Given the description of an element on the screen output the (x, y) to click on. 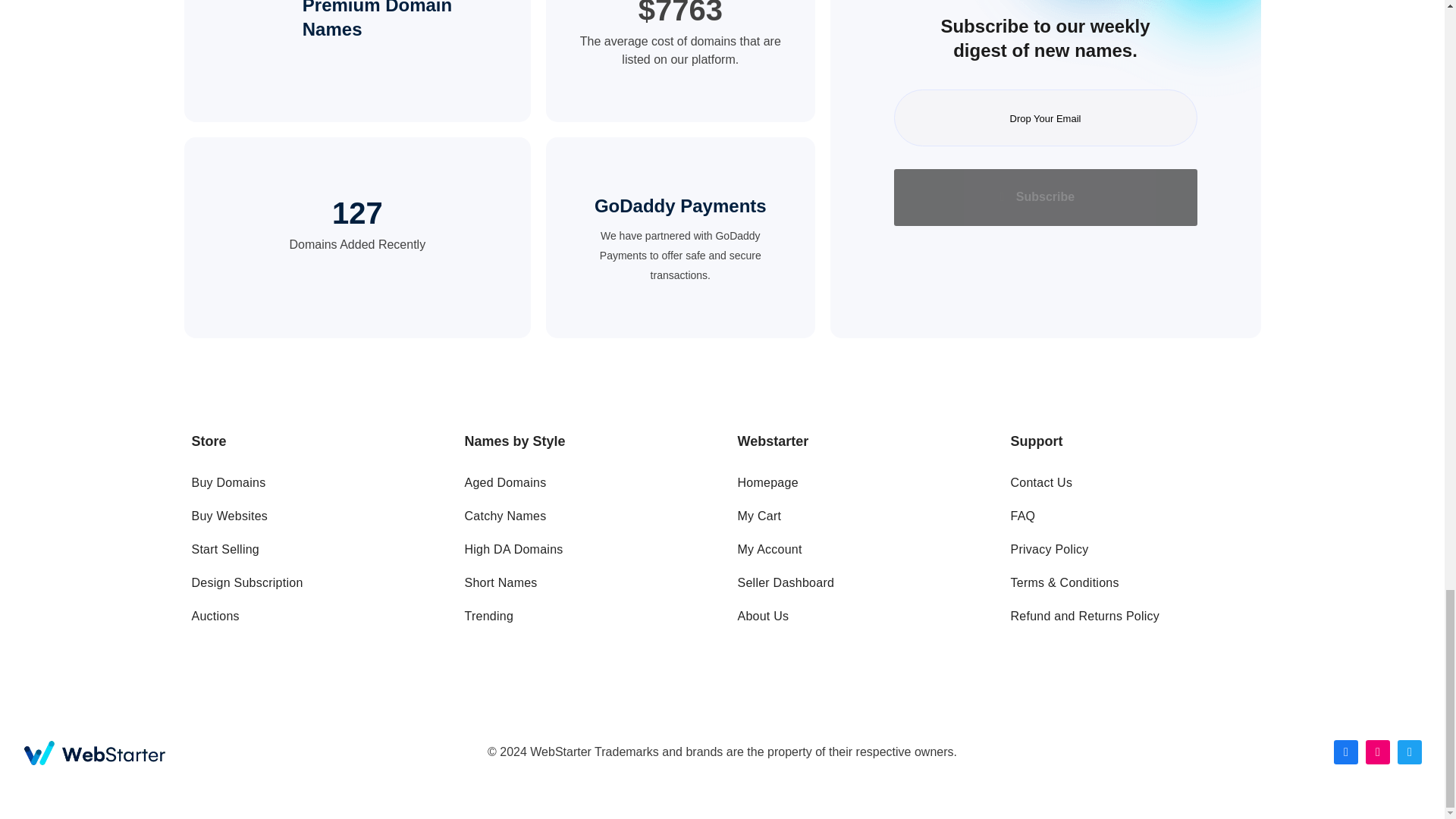
Subscribe (1044, 197)
